Given the description of an element on the screen output the (x, y) to click on. 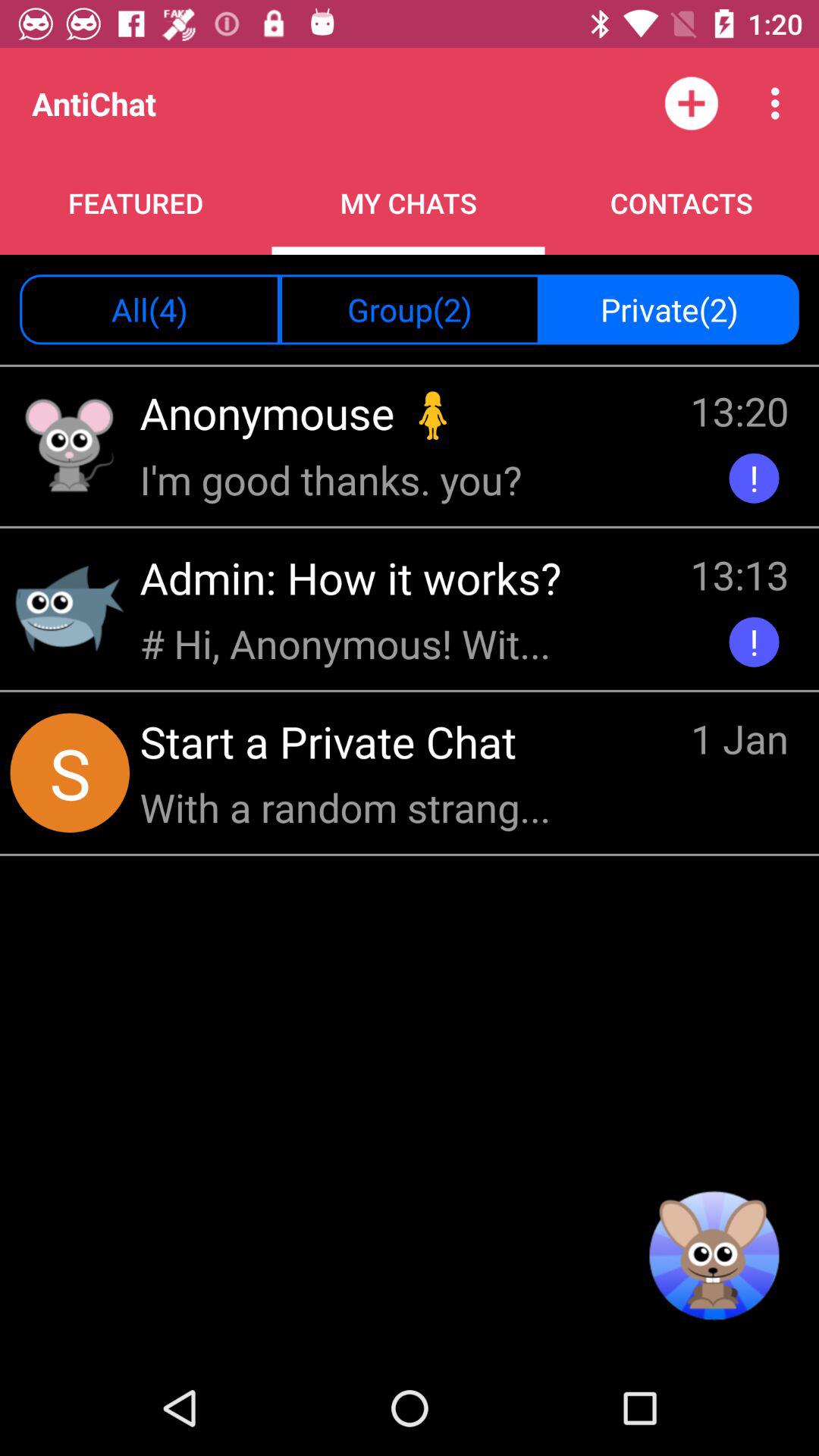
select item to the right of the all(4) item (409, 309)
